Given the description of an element on the screen output the (x, y) to click on. 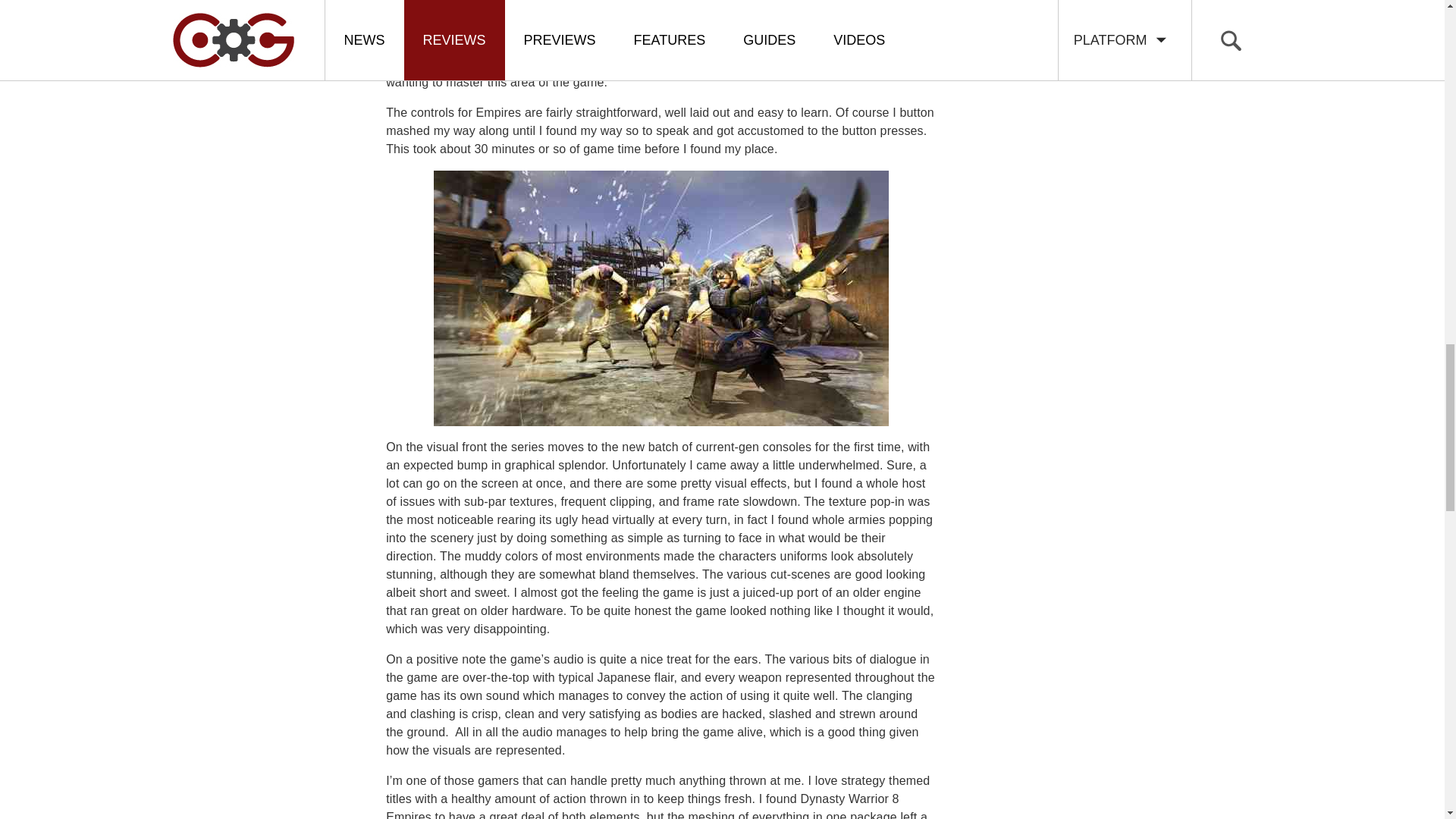
DW 8 Empires pic 1 (660, 297)
